Given the description of an element on the screen output the (x, y) to click on. 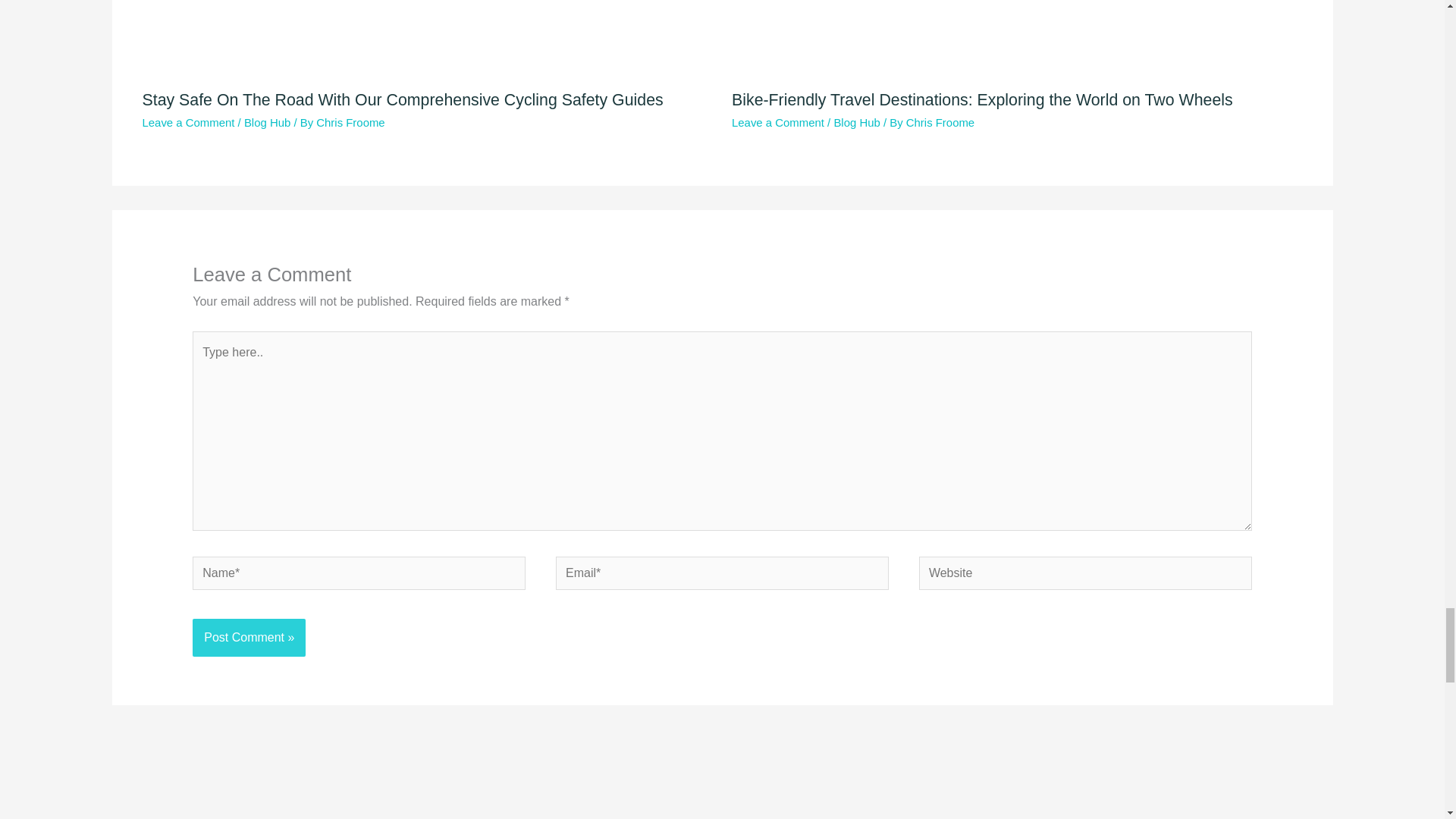
Blog Hub (266, 122)
Blog Hub (855, 122)
Leave a Comment (188, 122)
Chris Froome (349, 122)
Leave a Comment (778, 122)
Chris Froome (939, 122)
View all posts by Chris Froome (349, 122)
View all posts by Chris Froome (939, 122)
